Given the description of an element on the screen output the (x, y) to click on. 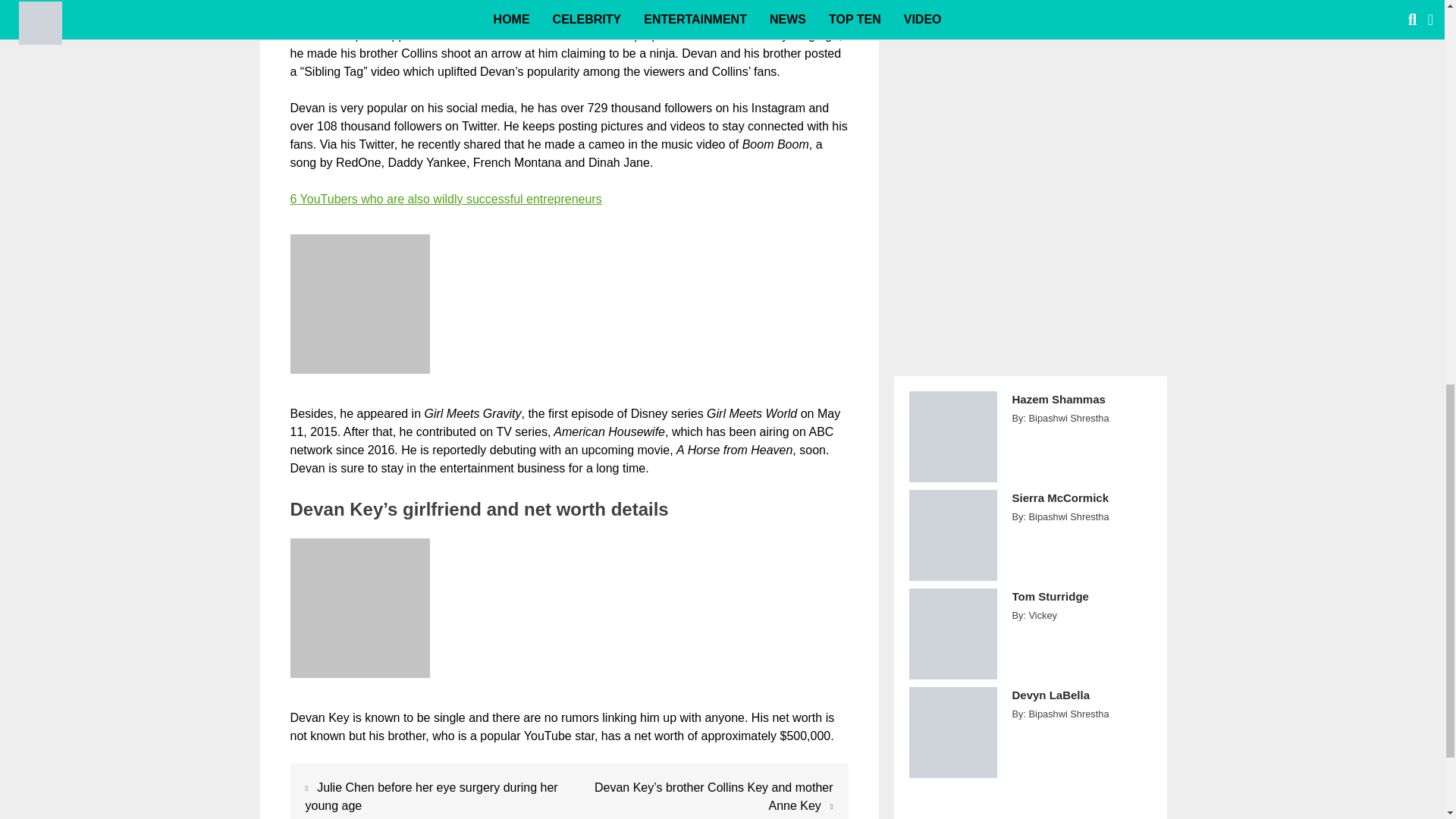
Julie Chen before her eye surgery during her young age (430, 796)
Shirtless Devan Key on Snapchat (359, 608)
Devan Key's brother Collin Key with their mother (359, 303)
6 YouTubers who are also wildly successful entrepreneurs (445, 198)
6 YouTubers who are also wildly successful entrepreneurs (445, 198)
